Given the description of an element on the screen output the (x, y) to click on. 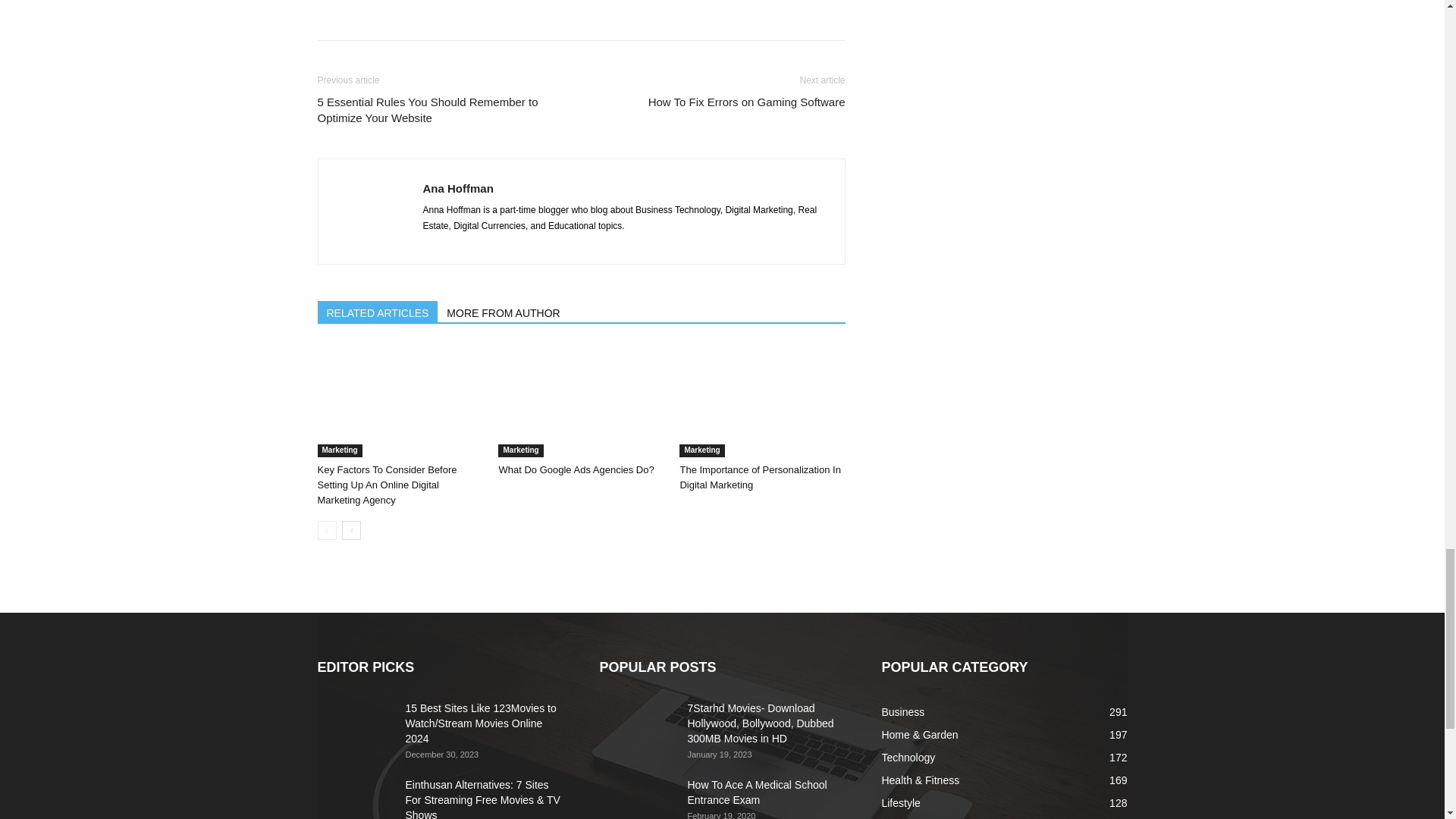
What Do Google Ads Agencies Do? (580, 400)
What Do Google Ads Agencies Do? (575, 469)
The Importance of Personalization In Digital Marketing (761, 400)
